Given the description of an element on the screen output the (x, y) to click on. 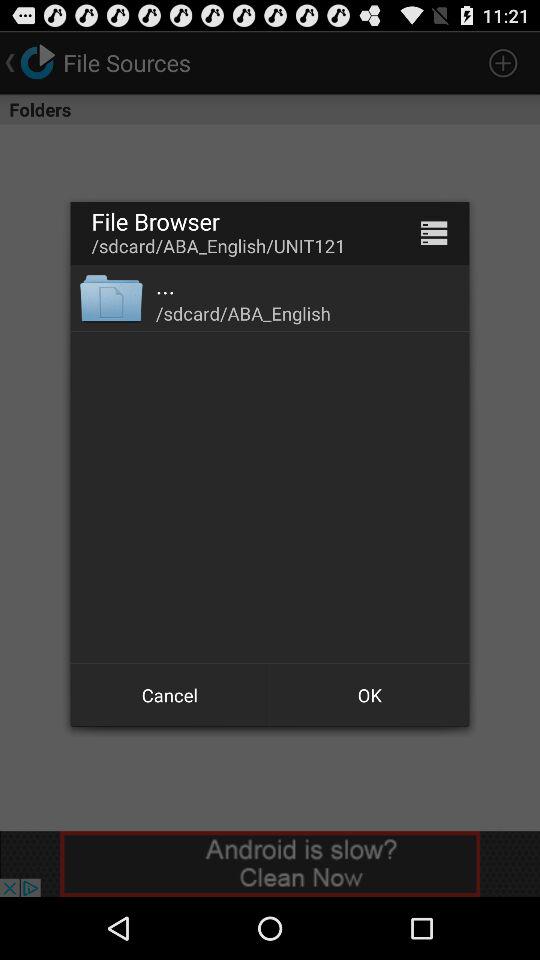
more options (433, 232)
